Given the description of an element on the screen output the (x, y) to click on. 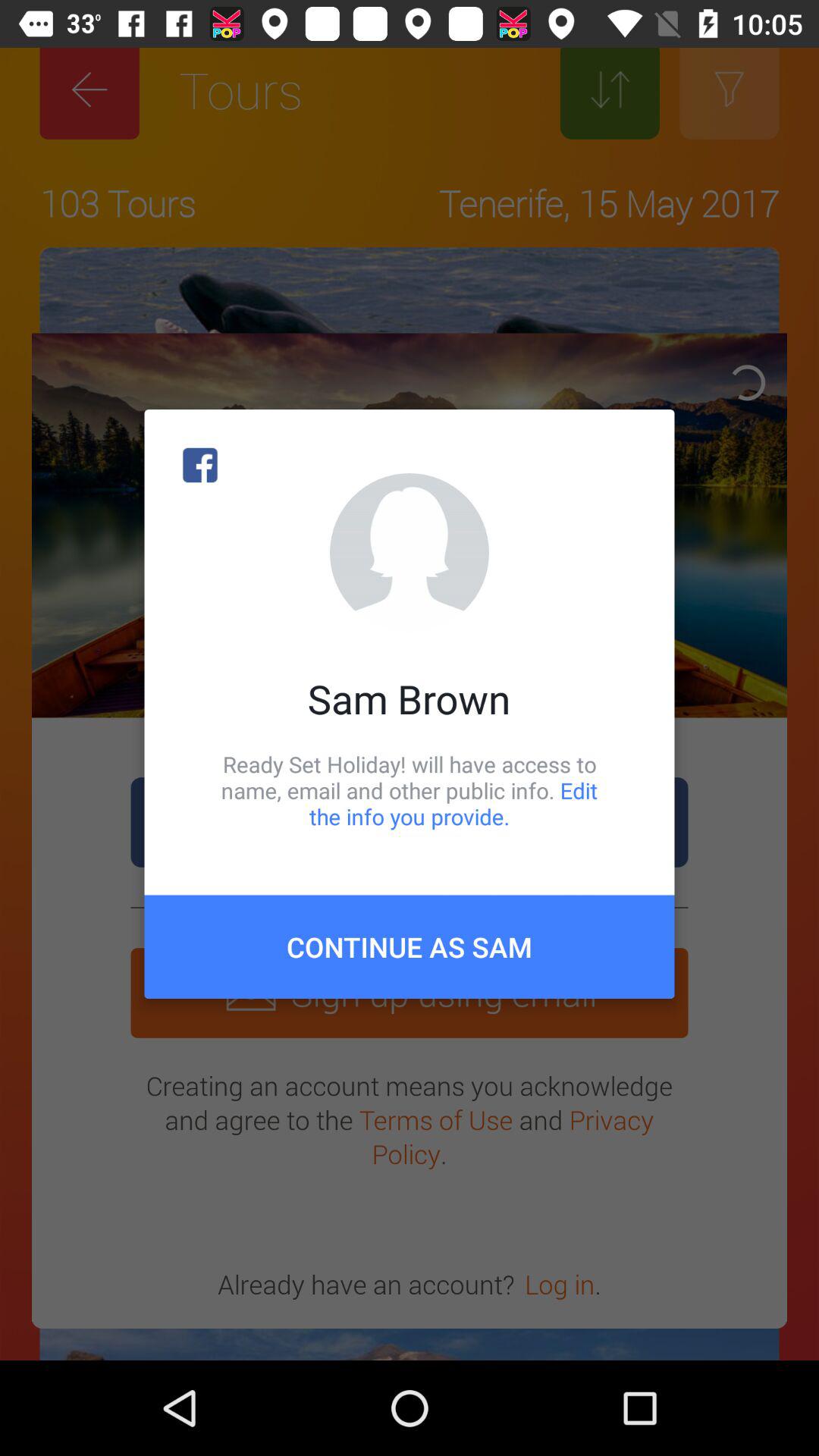
jump until ready set holiday (409, 790)
